Given the description of an element on the screen output the (x, y) to click on. 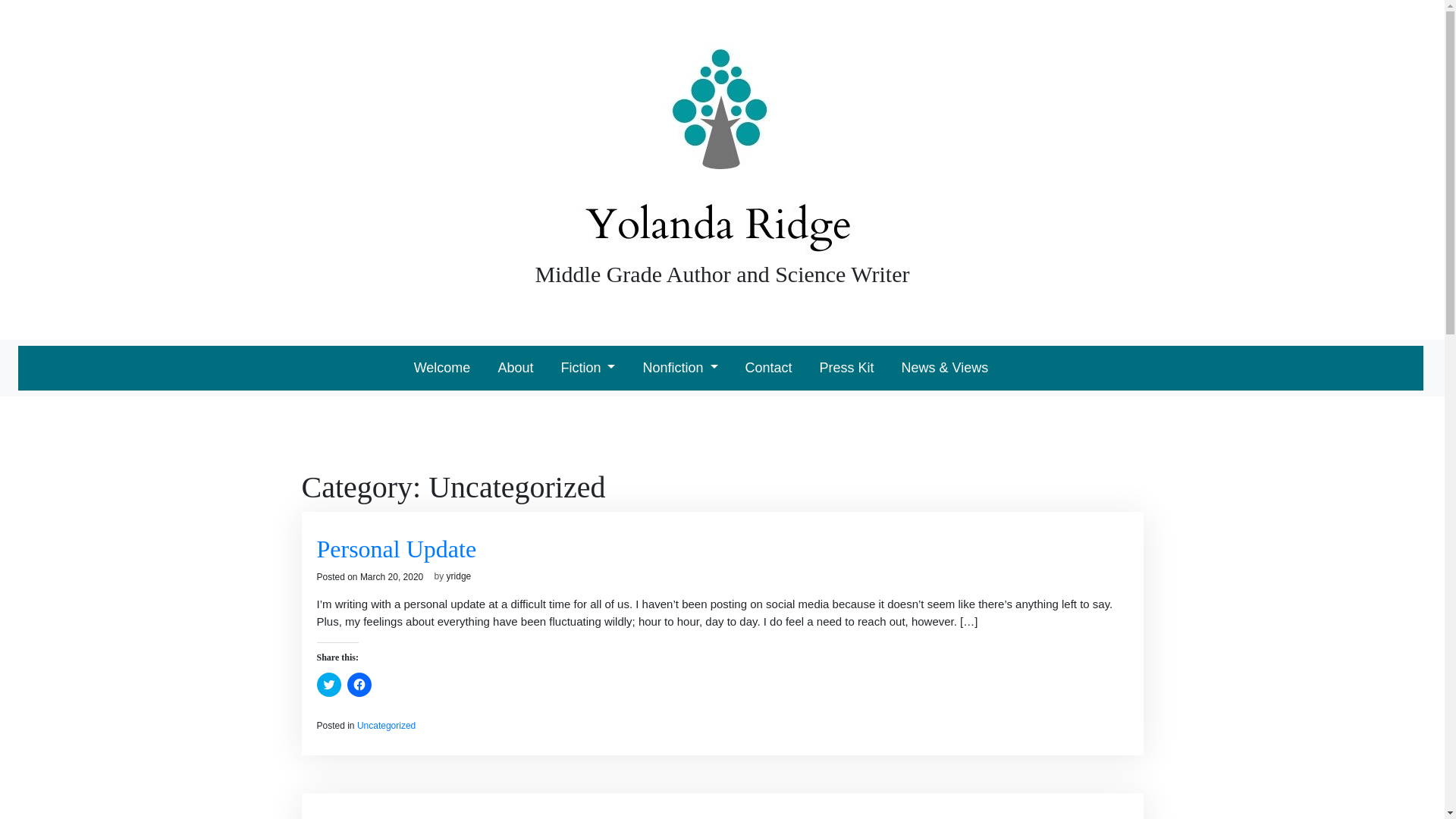
yridge (458, 576)
Nonfiction (679, 368)
Welcome (442, 368)
Fiction (587, 368)
Welcome (442, 368)
About (515, 368)
Contact (767, 368)
Press Kit (846, 368)
About (515, 368)
